Given the description of an element on the screen output the (x, y) to click on. 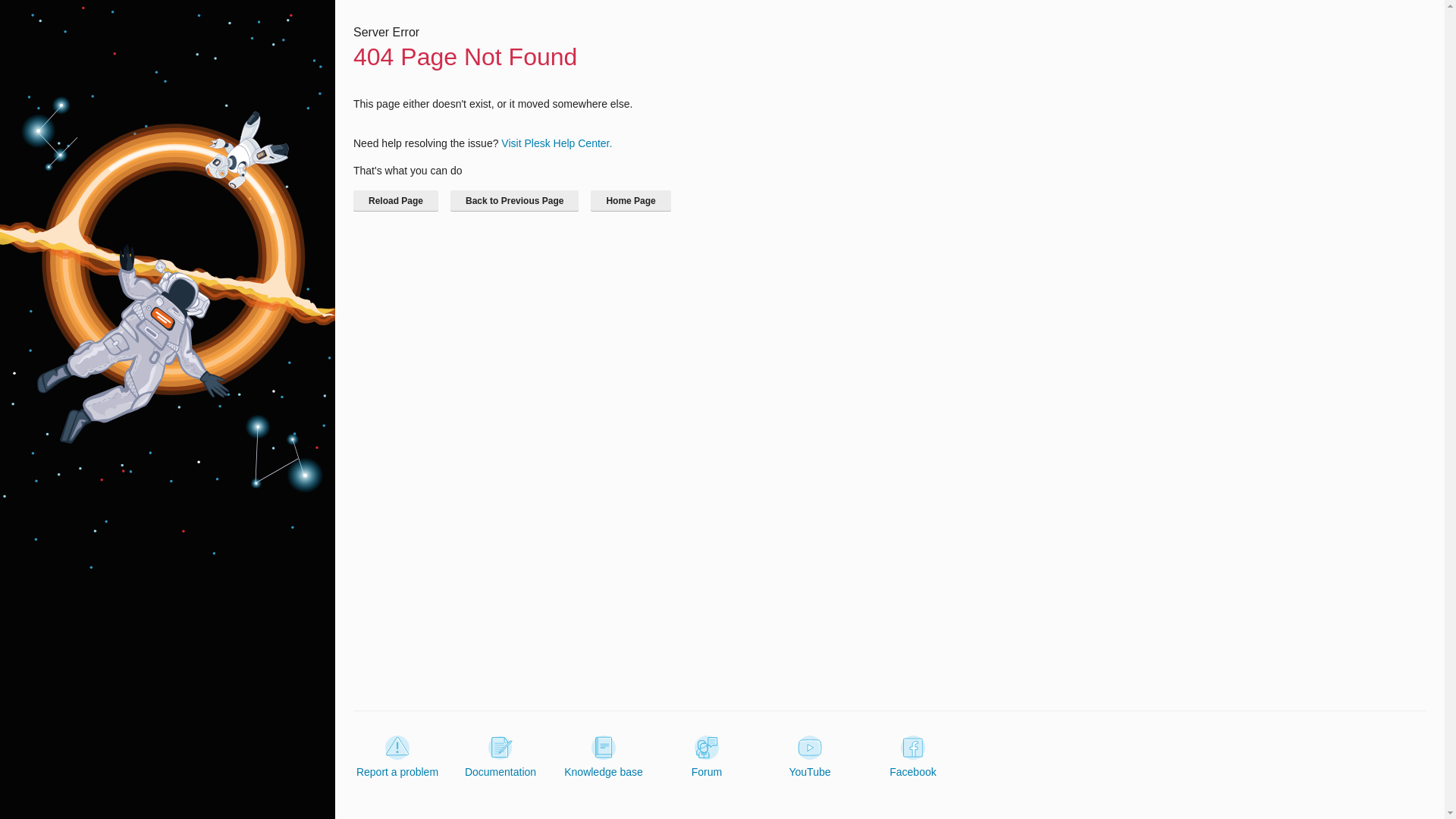
Visit Plesk Help Center. (555, 143)
Documentation (500, 757)
Forum (706, 757)
Report a problem (397, 757)
Back to Previous Page (513, 200)
YouTube (809, 757)
Facebook (912, 757)
Knowledge base (603, 757)
Reload Page (395, 200)
Home Page (630, 200)
